Given the description of an element on the screen output the (x, y) to click on. 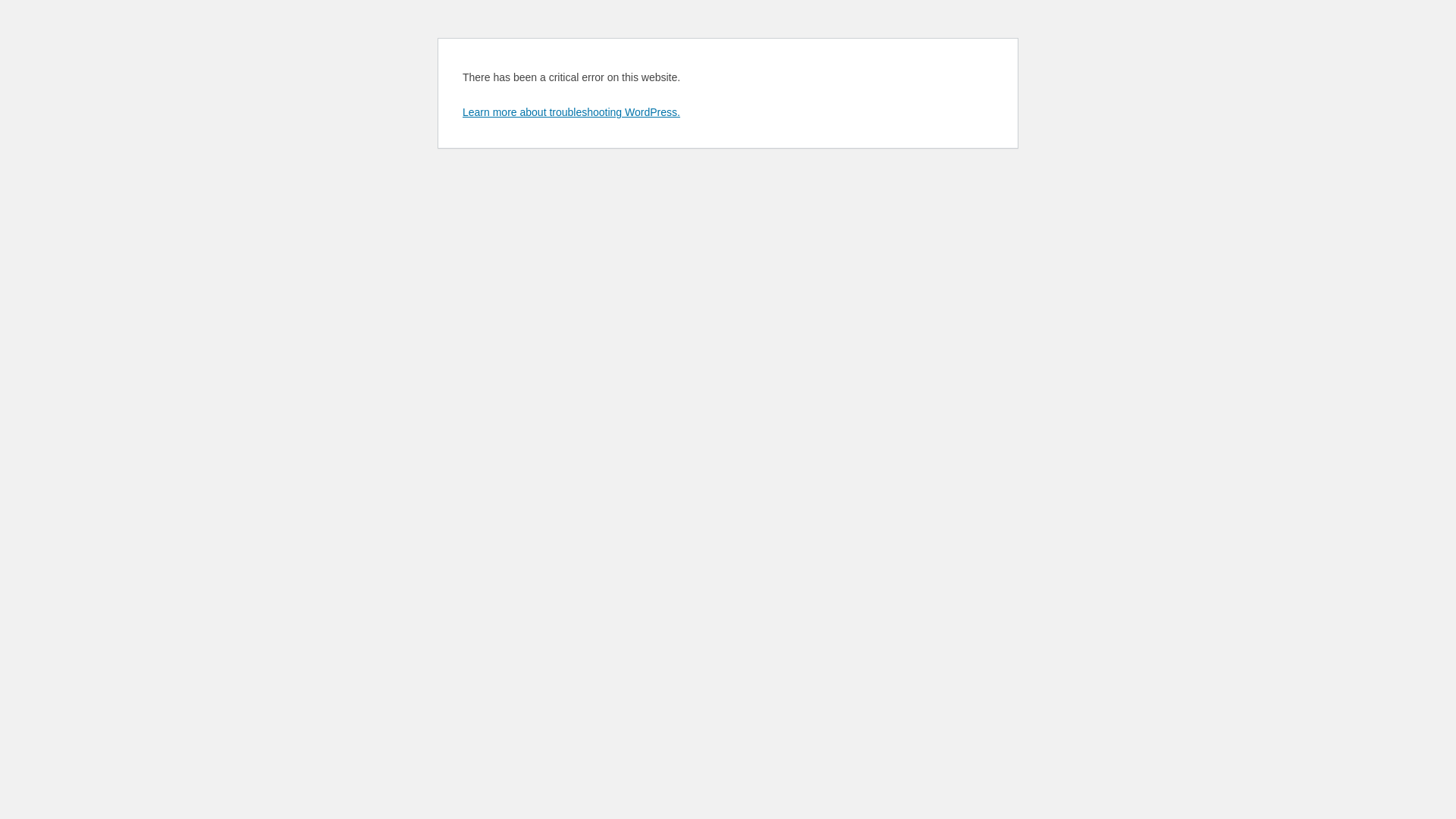
Learn more about troubleshooting WordPress. Element type: text (571, 112)
